Given the description of an element on the screen output the (x, y) to click on. 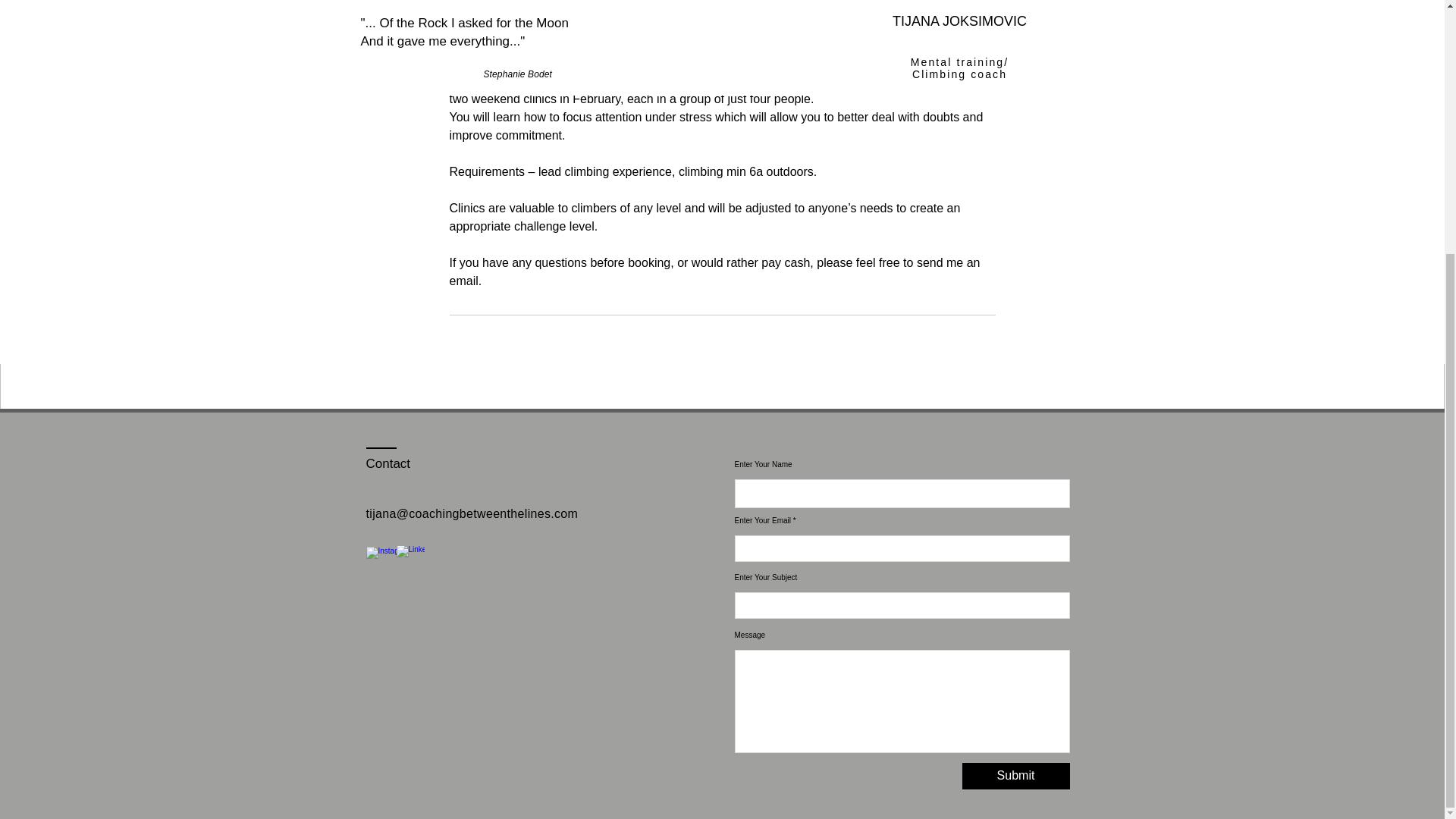
Submit (1014, 775)
